Given the description of an element on the screen output the (x, y) to click on. 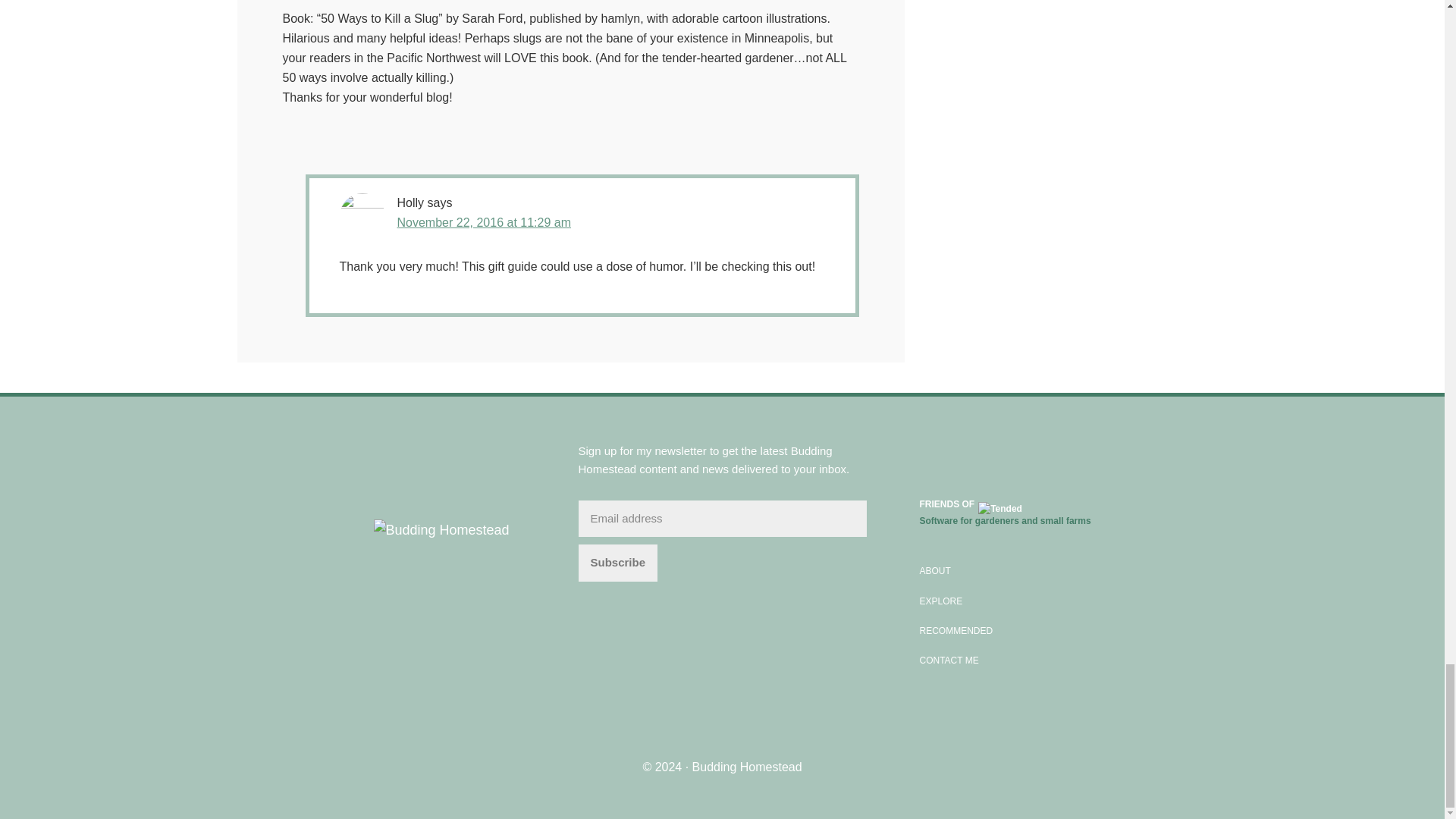
Follow Budding Homestead on Twitter (1010, 453)
Subscribe (618, 562)
Follow Budding Homestead on Bloglovin (983, 453)
Subscribe to Budding Homestead's RSS feed (1037, 453)
Like Budding Homestead on Facebook (930, 453)
Follow Budding Homestead on Instagram (957, 453)
